Given the description of an element on the screen output the (x, y) to click on. 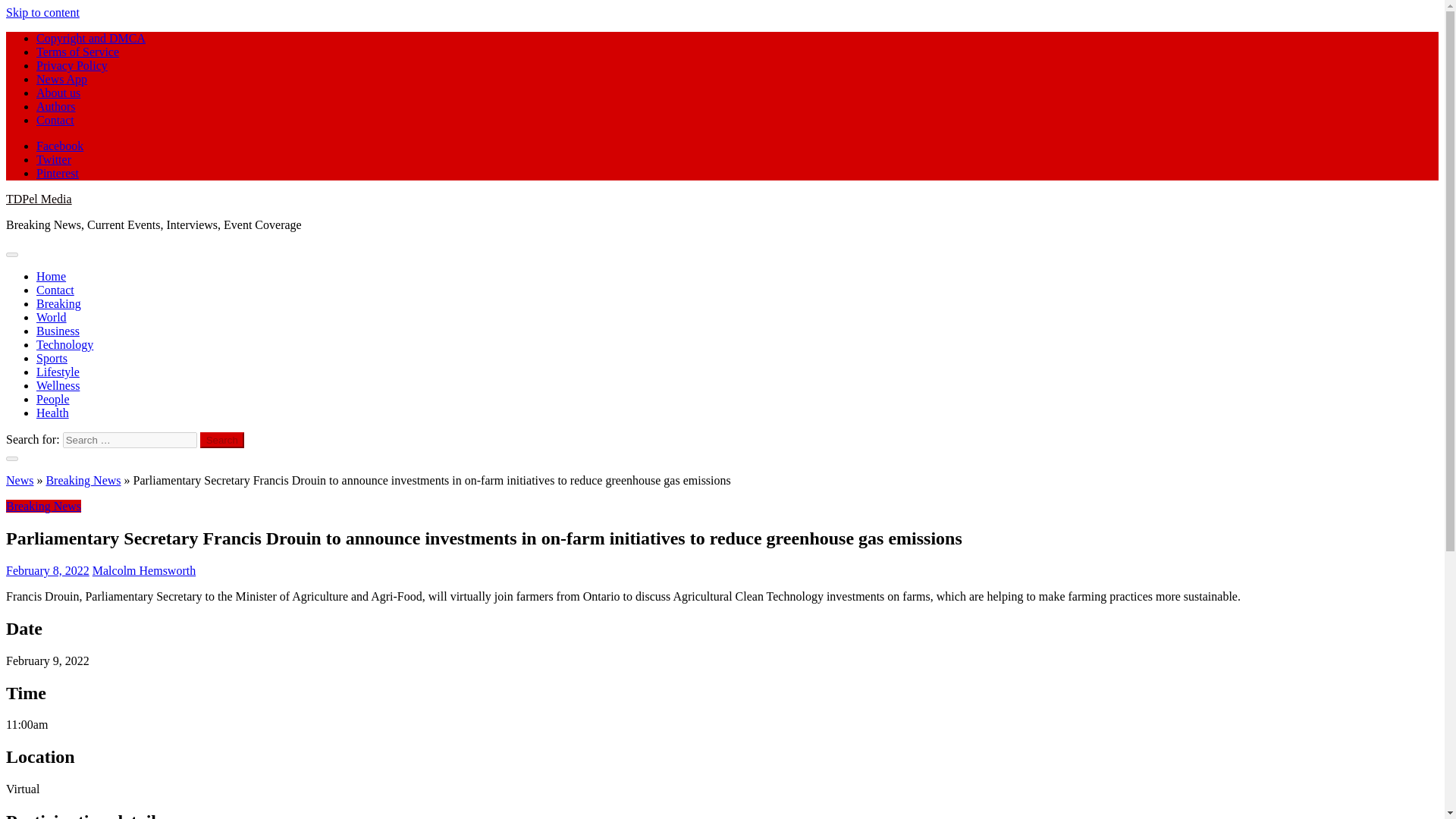
News (19, 480)
Technology (64, 344)
Search (222, 439)
Search (222, 439)
Malcolm Hemsworth (144, 570)
February 8, 2022 (46, 570)
Health (52, 412)
Authors (55, 106)
People (52, 399)
Privacy Policy (71, 65)
Twitter (53, 159)
Breaking News (82, 480)
Breaking (58, 303)
Lifestyle (58, 371)
World (51, 317)
